Given the description of an element on the screen output the (x, y) to click on. 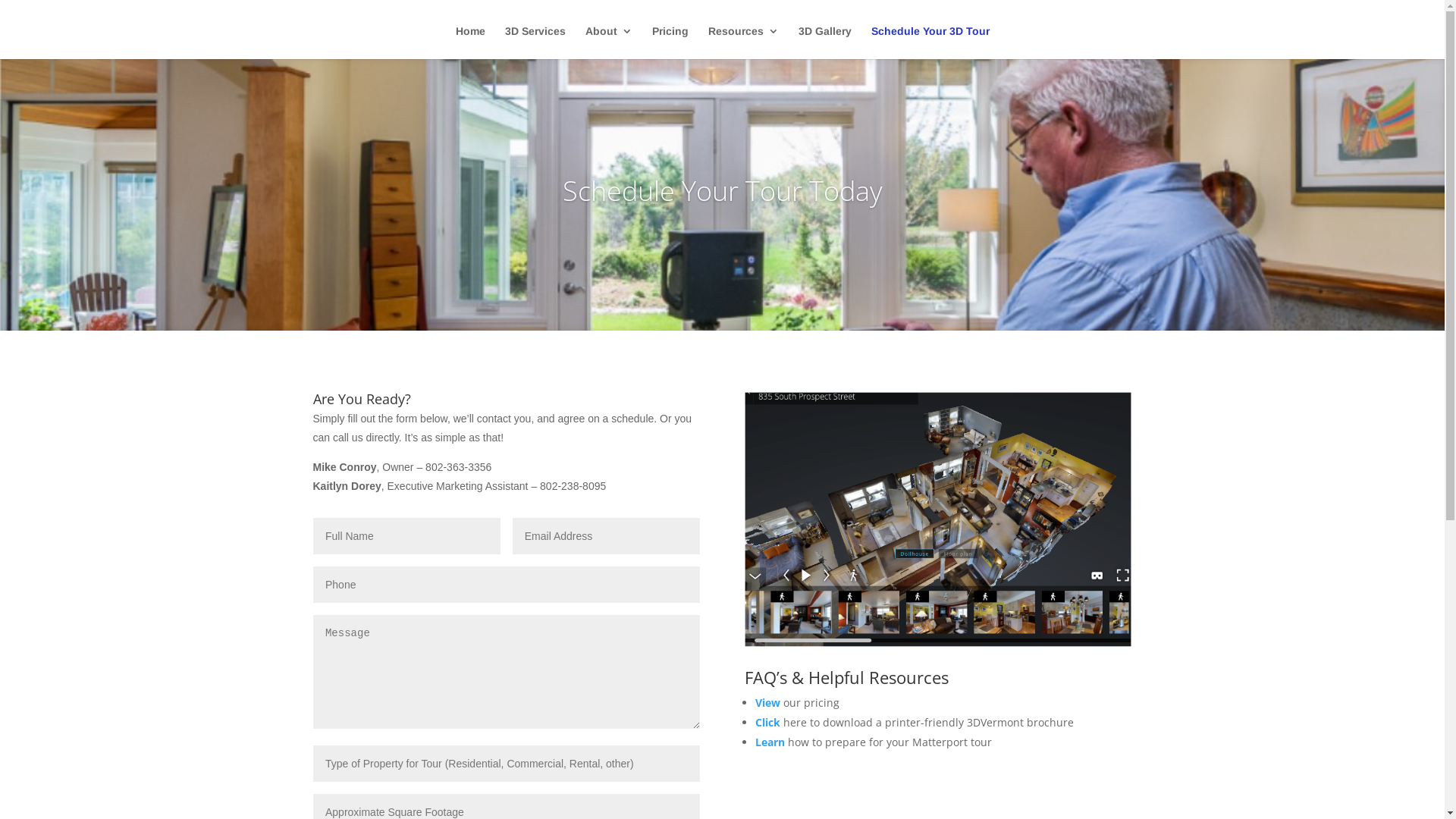
3D Gallery Element type: text (823, 42)
View Element type: text (767, 702)
Schedule Your 3D Tour Element type: text (929, 42)
Learn Element type: text (769, 741)
About Element type: text (608, 42)
3D Services Element type: text (535, 42)
Click Element type: text (767, 722)
Home Element type: text (469, 42)
Resources Element type: text (743, 42)
Pricing Element type: text (670, 42)
